Given the description of an element on the screen output the (x, y) to click on. 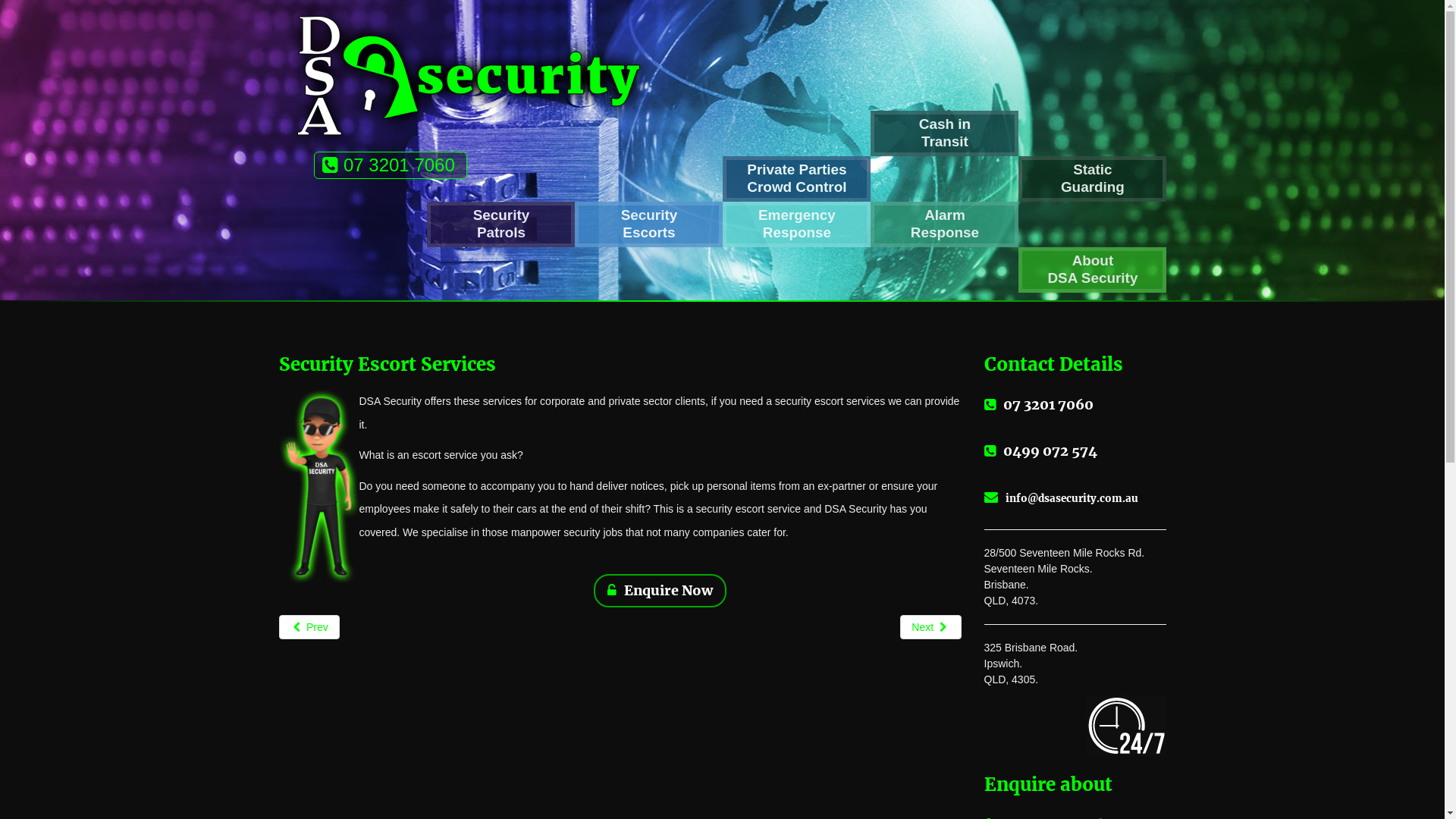
Enquire Now Element type: text (659, 590)
Security
Escorts Element type: text (648, 224)
Alarm
Response Element type: text (944, 224)
Emergency
Response Element type: text (796, 224)
 0499 072 574 Element type: text (1075, 451)
Security Escort Services Element type: text (387, 364)
Static
Guarding Element type: text (1092, 178)
About
DSA Security Element type: text (1092, 269)
Cash in
Transit Element type: text (944, 133)
07 3201 7060 Element type: text (390, 164)
Next Element type: text (930, 627)
 07 3201 7060 Element type: text (1075, 404)
Security
Patrols Element type: text (500, 224)
Prev Element type: text (309, 627)
 info@dsasecurity.com.au Element type: text (1075, 498)
Private Parties
Crowd Control Element type: text (796, 178)
